Given the description of an element on the screen output the (x, y) to click on. 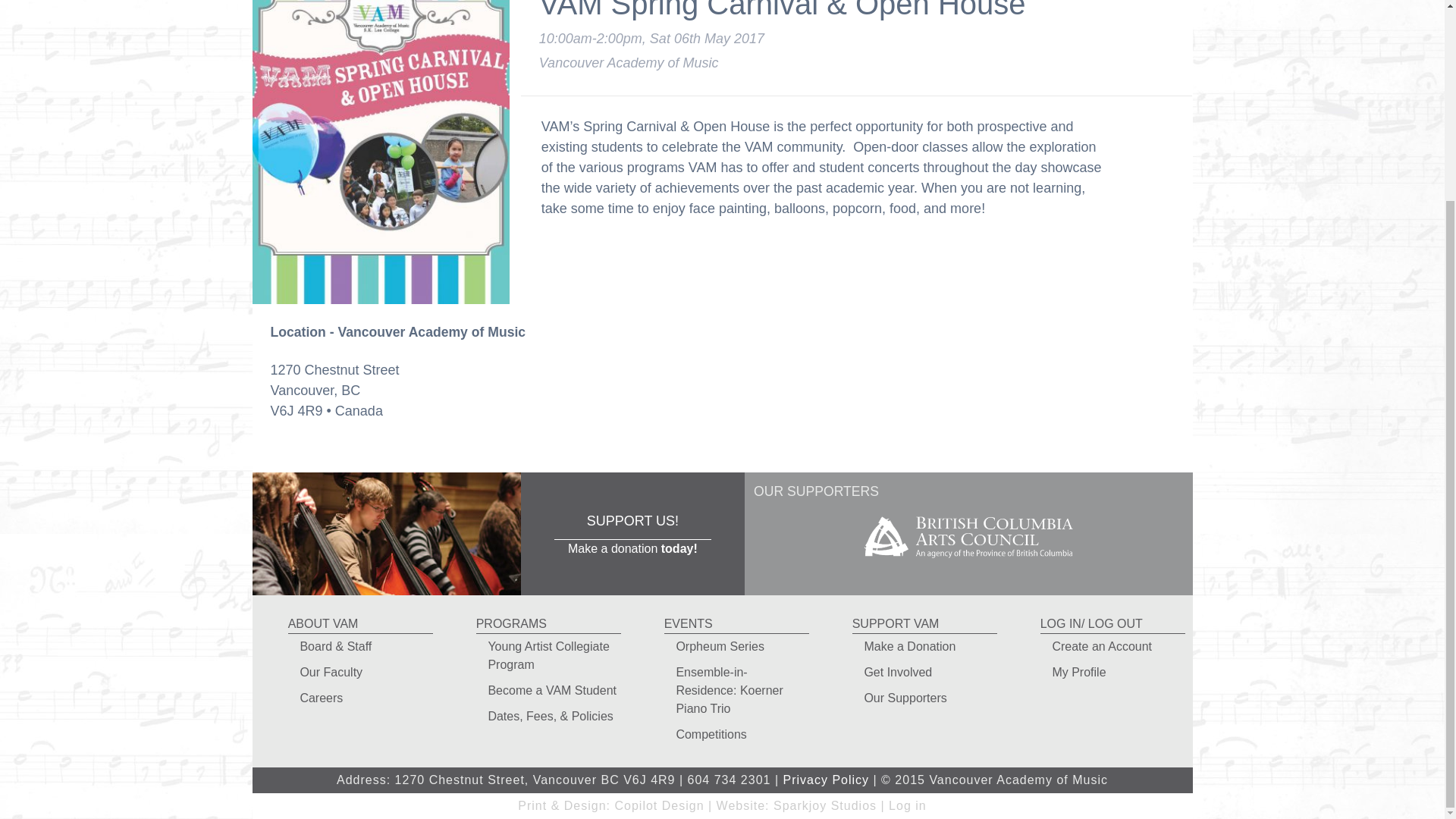
CoPilot Design (658, 805)
Privacy Policy (826, 779)
BC Arts Council (968, 562)
Support VAM (632, 534)
